Given the description of an element on the screen output the (x, y) to click on. 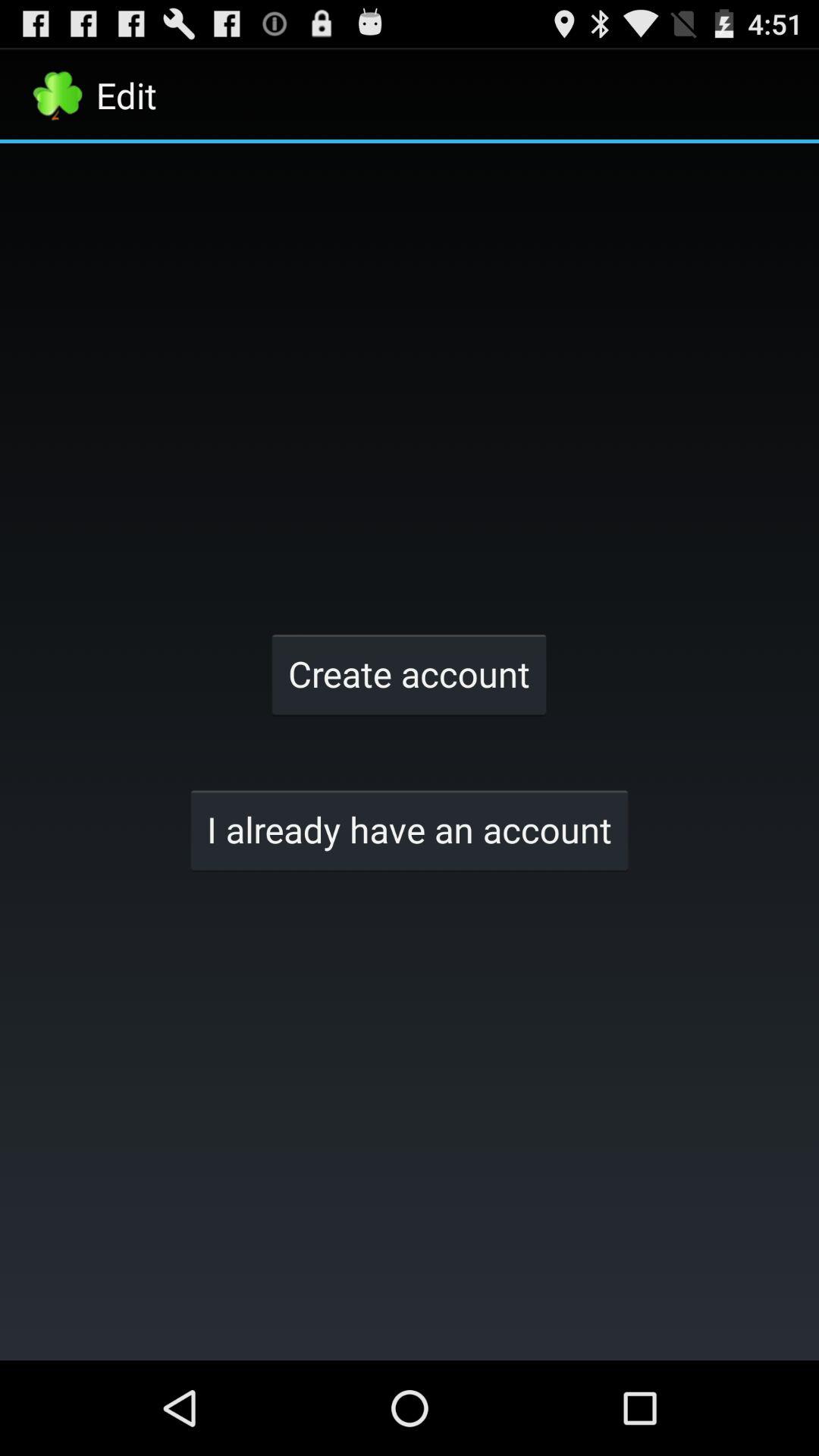
launch icon above the i already have item (408, 673)
